Given the description of an element on the screen output the (x, y) to click on. 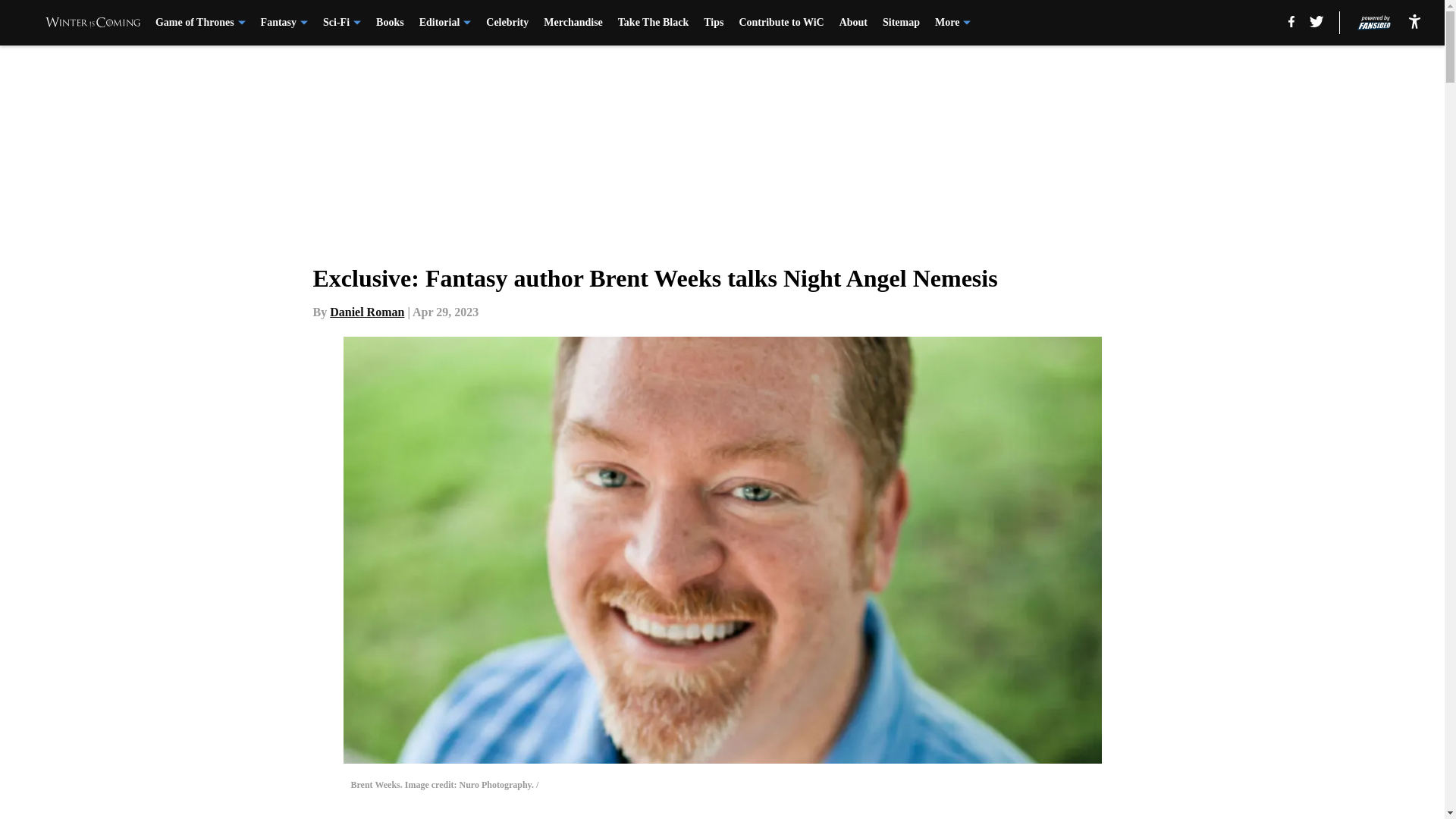
Sci-Fi (342, 22)
Editorial (445, 22)
Fantasy (283, 22)
Books (389, 22)
Game of Thrones (200, 22)
